Given the description of an element on the screen output the (x, y) to click on. 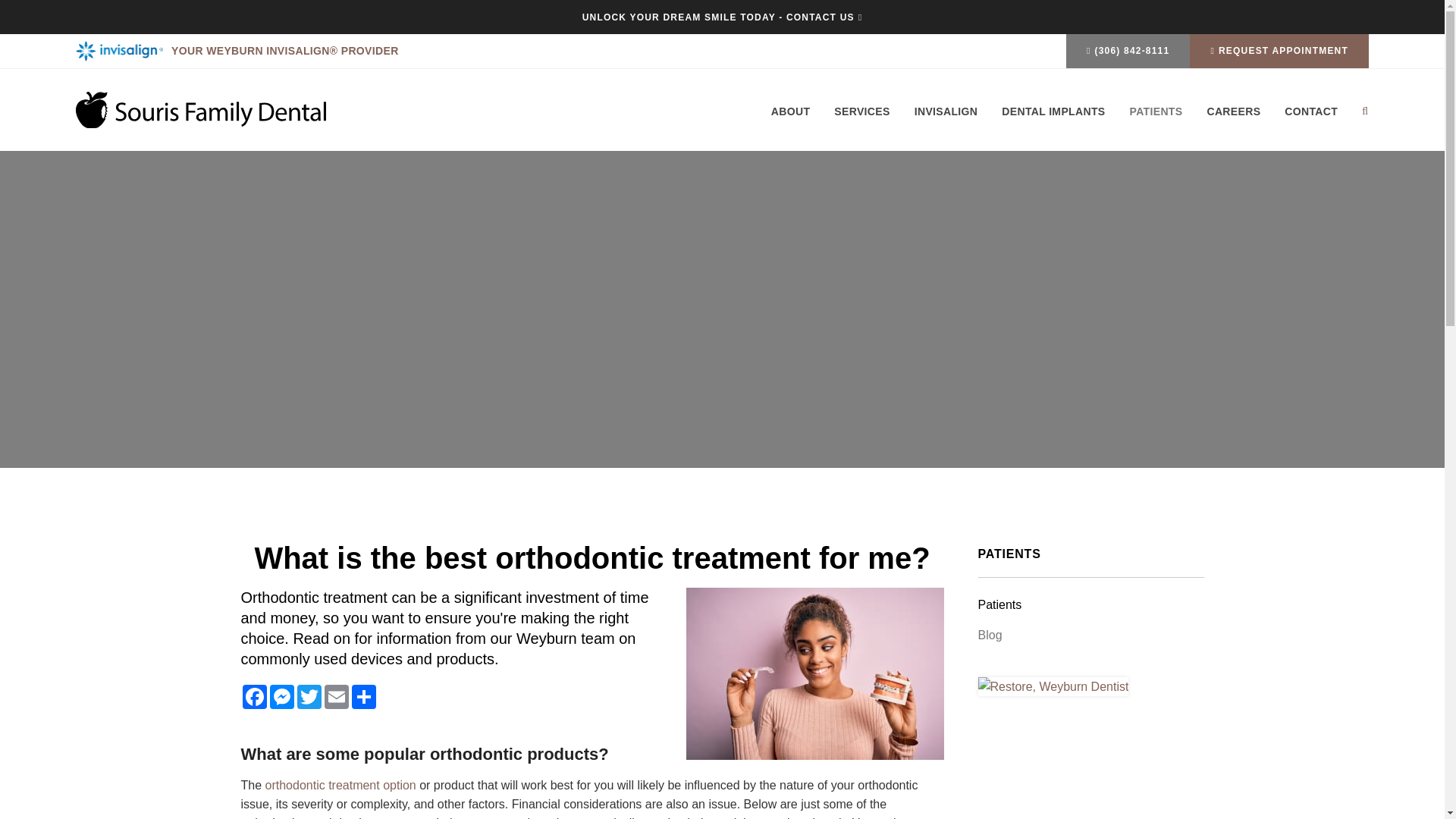
REQUEST APPOINTMENT (1278, 50)
ABOUT (796, 122)
Messenger (281, 695)
PATIENTS (1154, 122)
INVISALIGN (946, 122)
CONTACT (1310, 122)
Email (336, 695)
CAREERS (1232, 122)
UNLOCK YOUR DREAM SMILE TODAY - CONTACT US (722, 17)
